Given the description of an element on the screen output the (x, y) to click on. 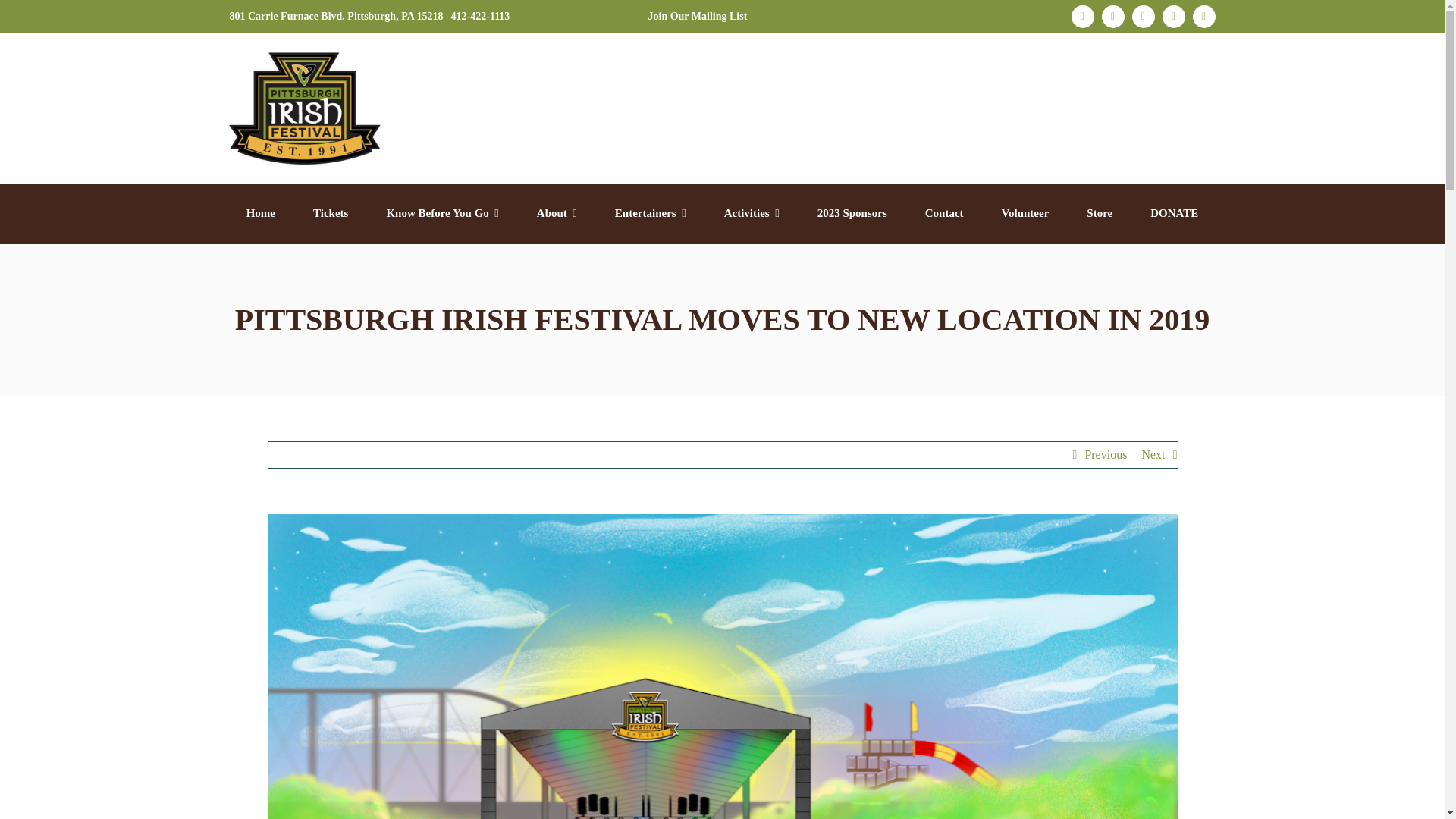
Entertainers (649, 213)
Activities (750, 213)
Previous (1105, 454)
DONATE (1174, 213)
Join Our Mailing List (697, 16)
Volunteer (1025, 213)
2023 Sponsors (851, 213)
Know Before You Go (441, 213)
